Given the description of an element on the screen output the (x, y) to click on. 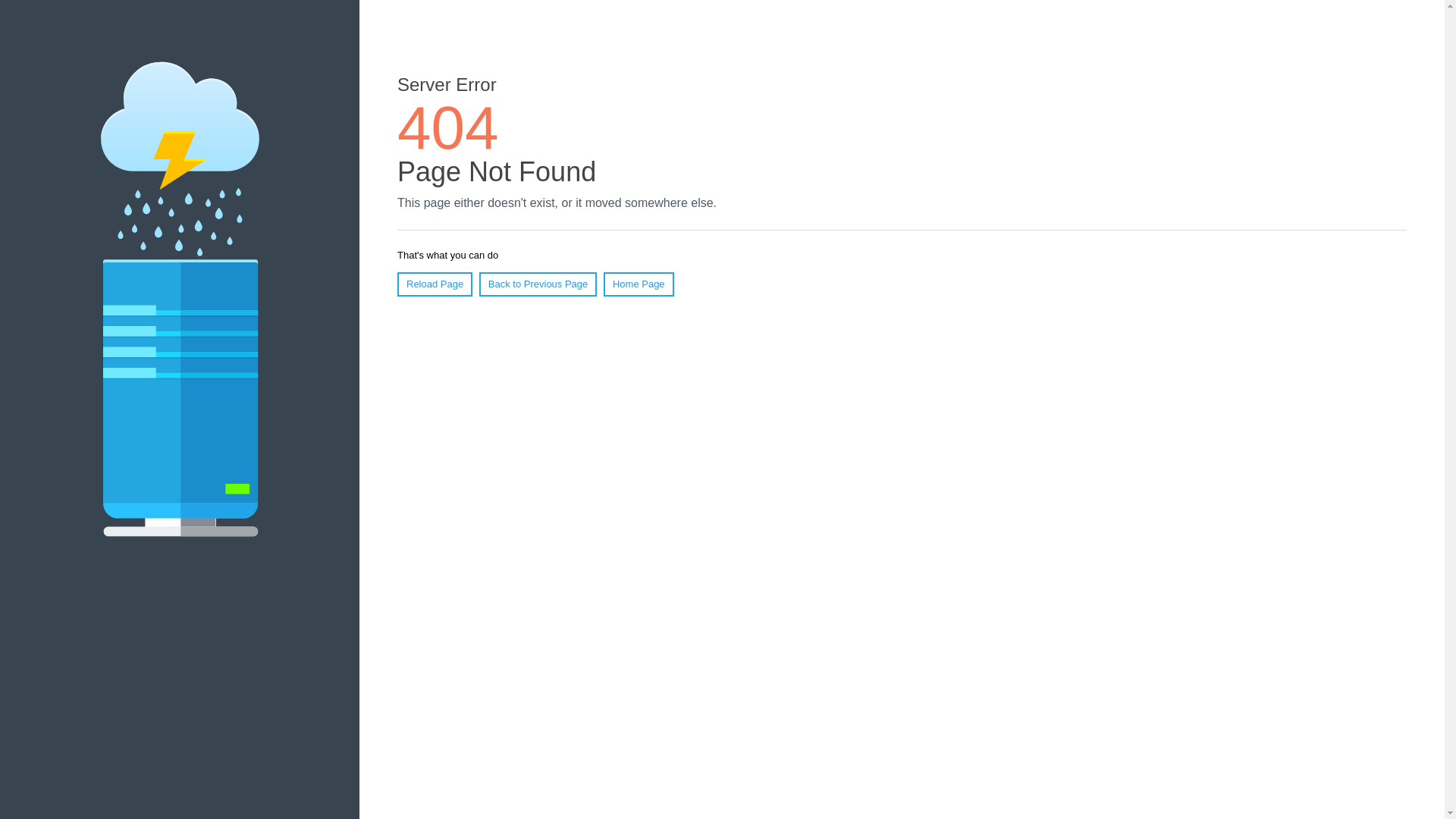
Reload Page (434, 283)
Back to Previous Page (537, 283)
Home Page (639, 283)
